Given the description of an element on the screen output the (x, y) to click on. 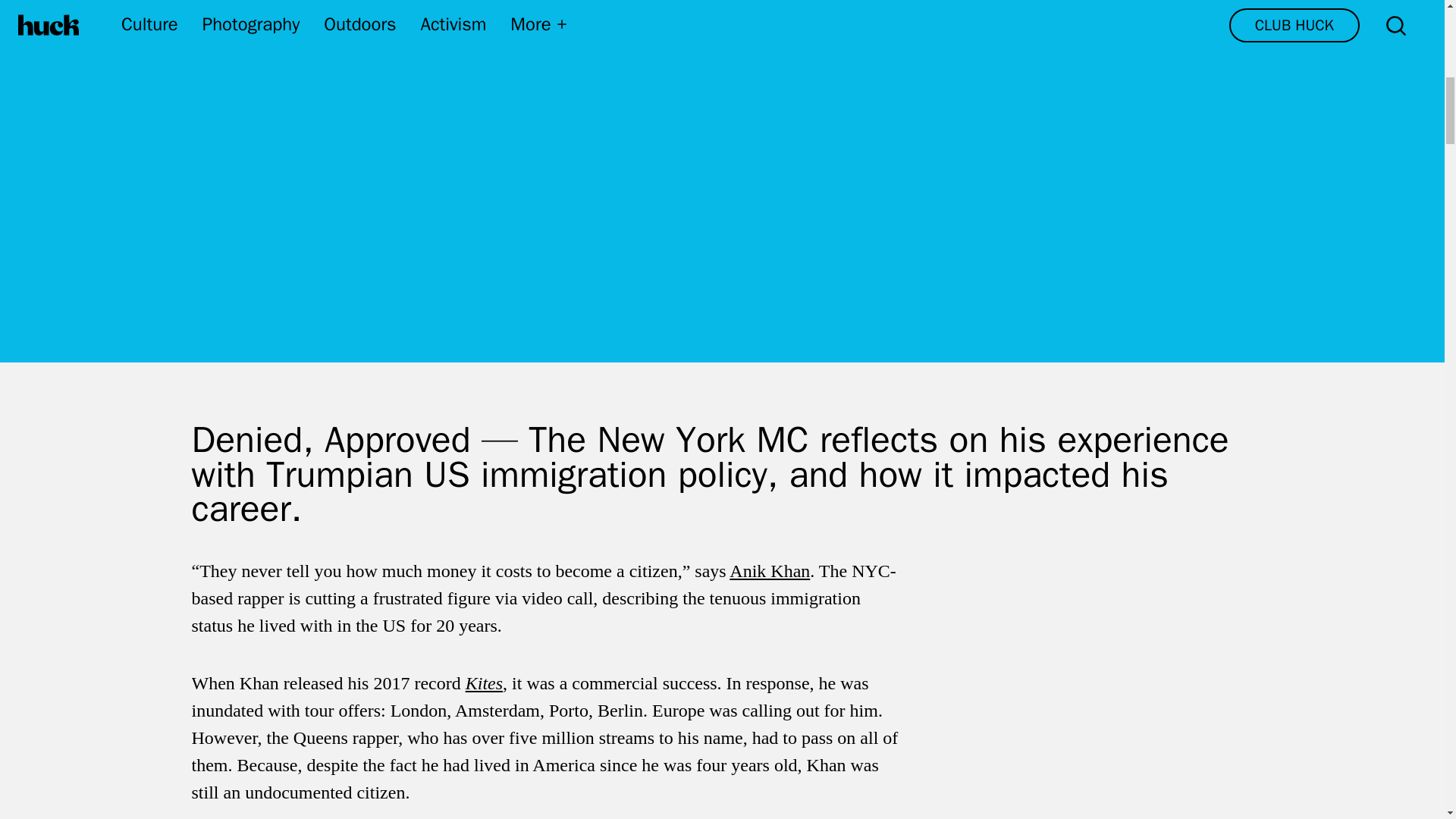
Kites (483, 682)
Anik Khan (769, 570)
